Given the description of an element on the screen output the (x, y) to click on. 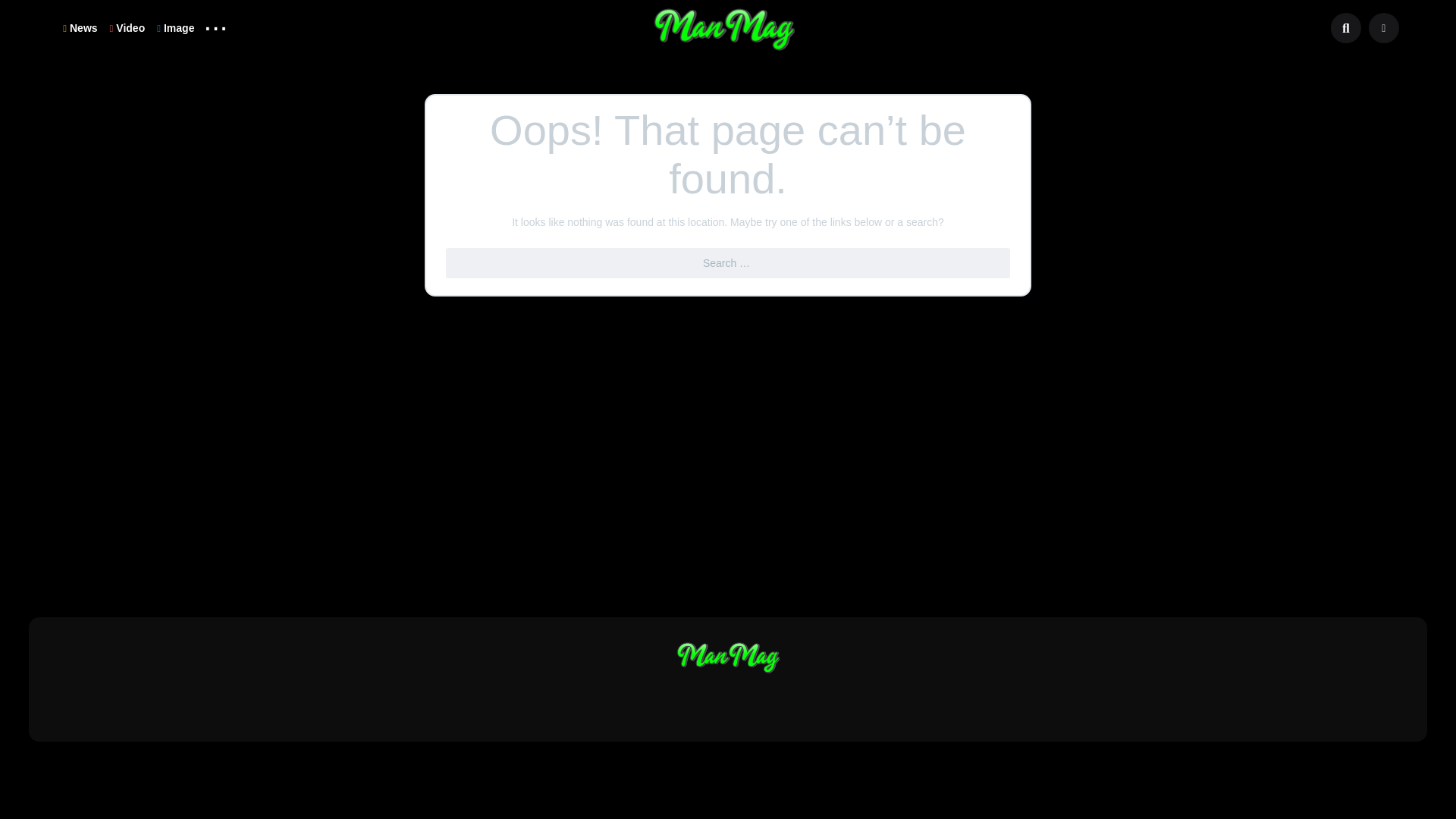
Image (175, 27)
News (79, 27)
Video (127, 27)
Search (21, 9)
